Given the description of an element on the screen output the (x, y) to click on. 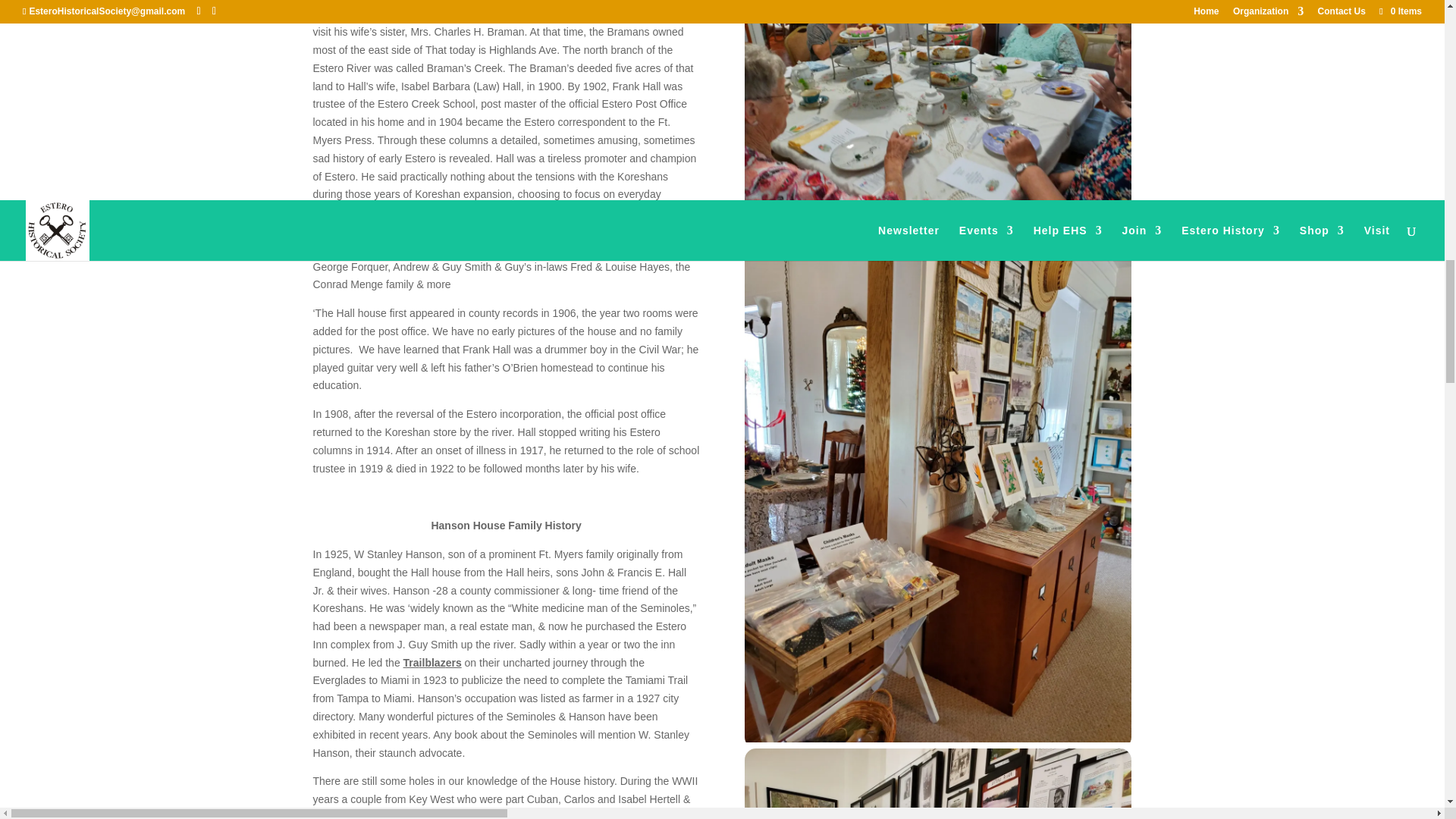
May 2021 tea (937, 216)
Cottage Gift Shop (937, 738)
